Given the description of an element on the screen output the (x, y) to click on. 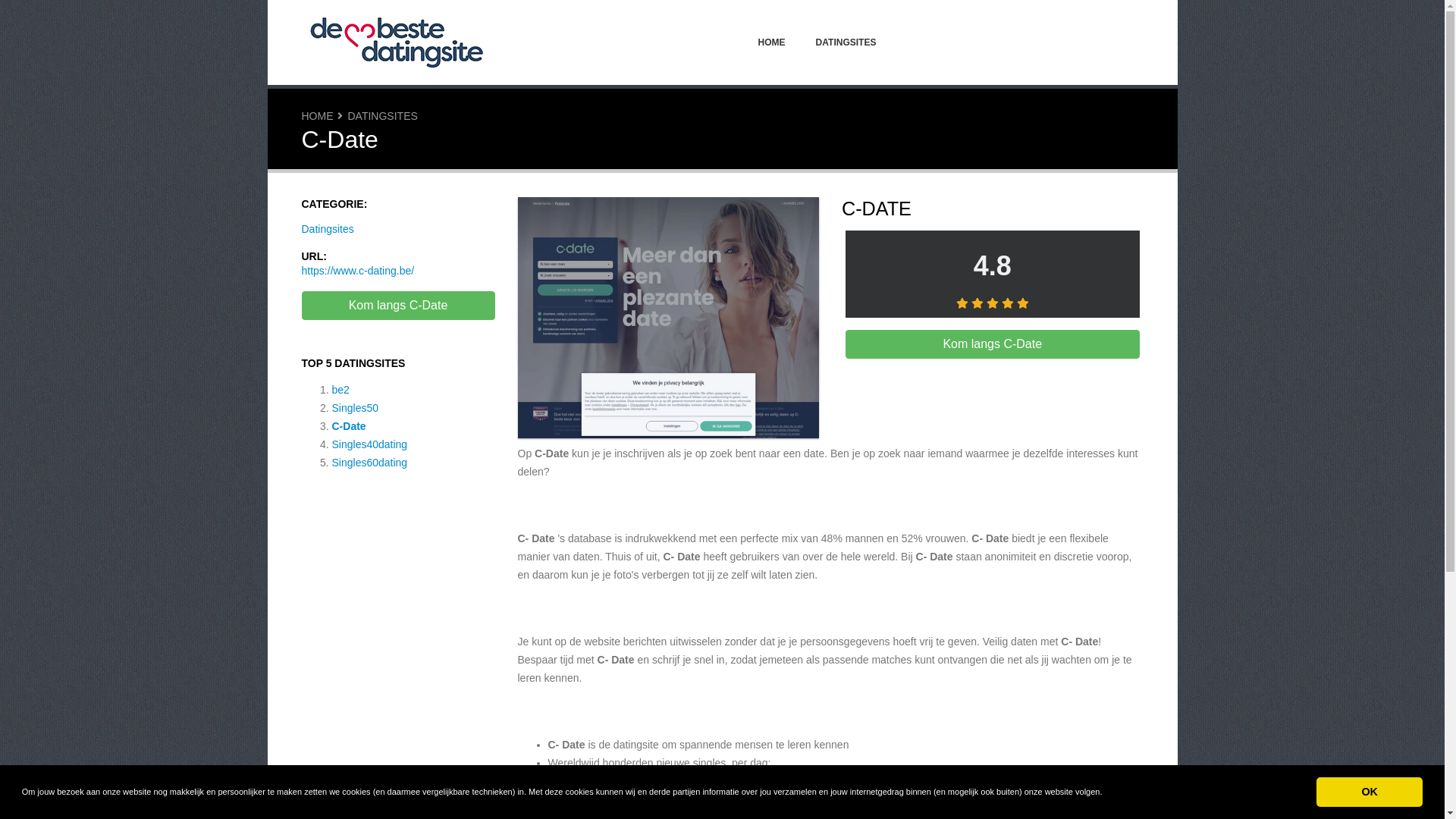
de-beste-datingsite.be Element type: hover (396, 42)
Kom langs C-Date Element type: hover (668, 319)
Singles60dating Element type: text (369, 462)
https://www.c-dating.be/ Element type: text (357, 270)
Kom langs C-Date Element type: text (992, 343)
Beoordeling: 4.8 Element type: hover (992, 303)
OK Element type: text (1369, 791)
C-Date Element type: text (349, 426)
Datingsites Element type: text (327, 228)
be2 Element type: text (340, 389)
HOME Element type: text (771, 41)
Singles50 Element type: text (355, 407)
DATINGSITES Element type: text (382, 115)
Go to top Element type: hover (1403, 785)
Kom langs C-Date Element type: text (398, 305)
DATINGSITES Element type: text (845, 41)
Singles40dating Element type: text (369, 444)
HOME Element type: text (317, 115)
